Given the description of an element on the screen output the (x, y) to click on. 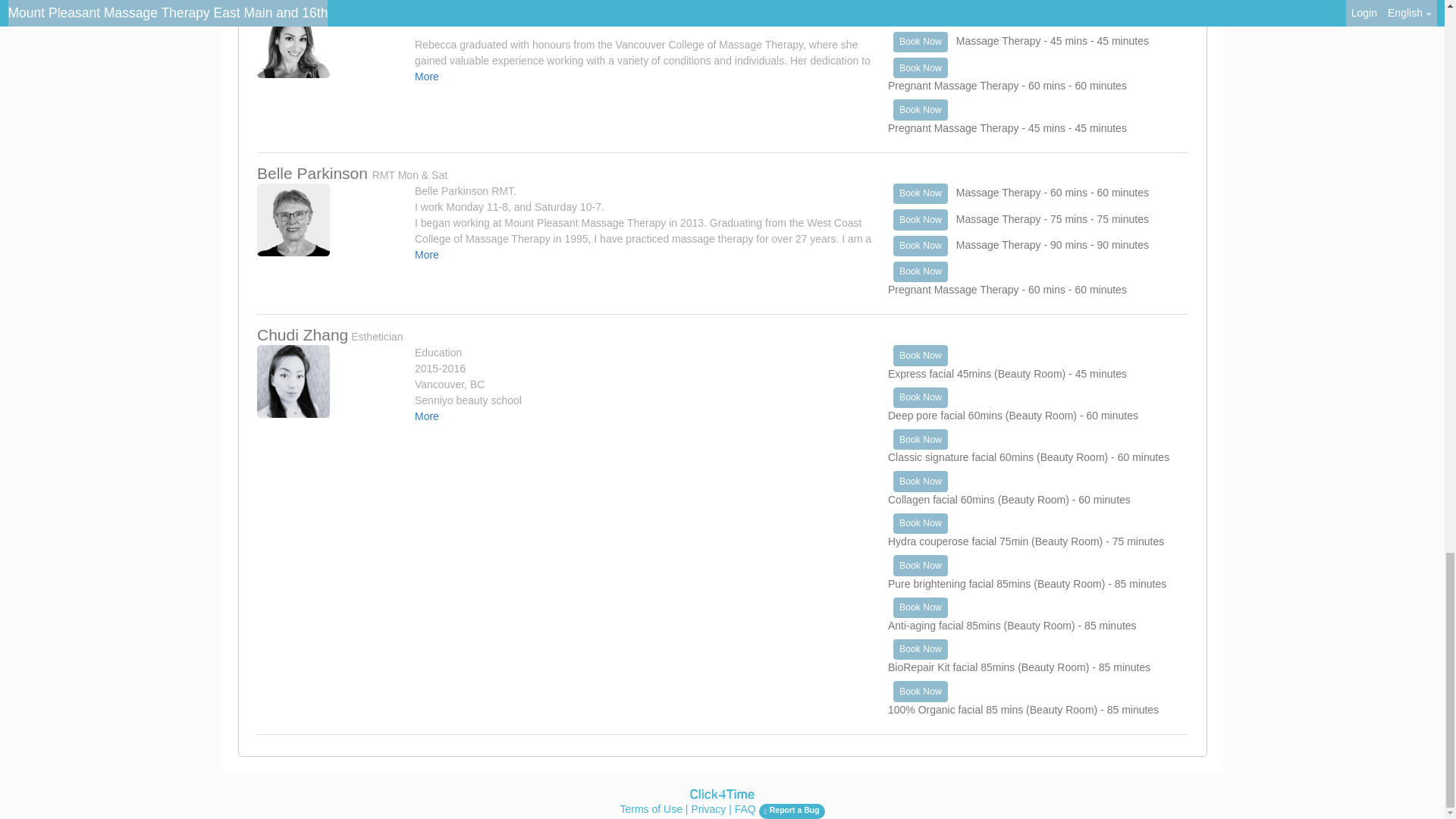
Book Now (920, 14)
More (426, 76)
Book Now (920, 41)
